Given the description of an element on the screen output the (x, y) to click on. 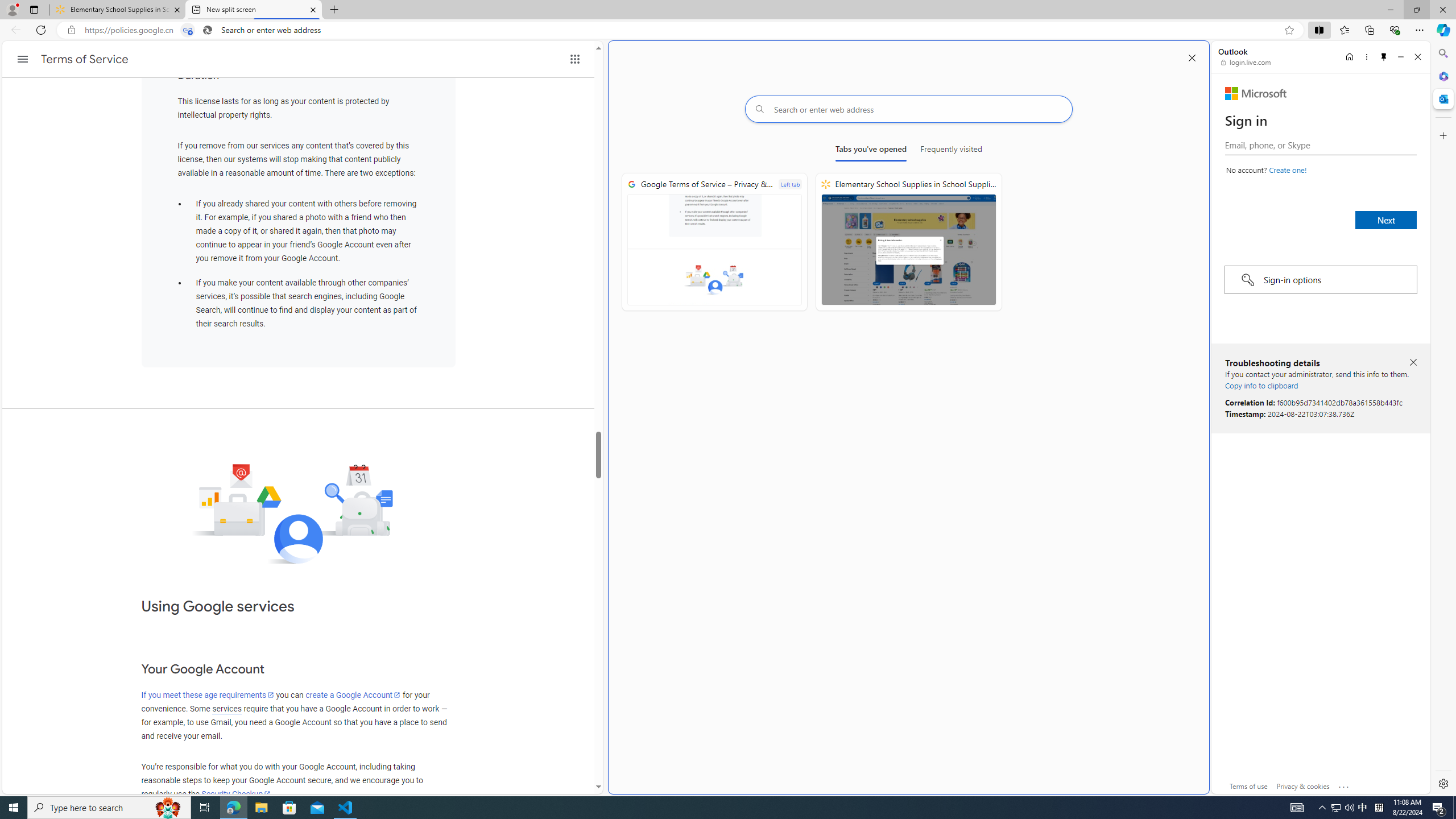
Address and search bar (681, 29)
Collections (1369, 29)
Side bar (1443, 418)
Minimize (1401, 56)
App bar (728, 29)
Tabs you've opened (870, 151)
Microsoft 365 (1442, 76)
Search icon (207, 29)
Create a Microsoft account (1287, 169)
login.live.com (1246, 61)
Close Search pane (1442, 53)
Copy info to clipboard (1261, 384)
